Given the description of an element on the screen output the (x, y) to click on. 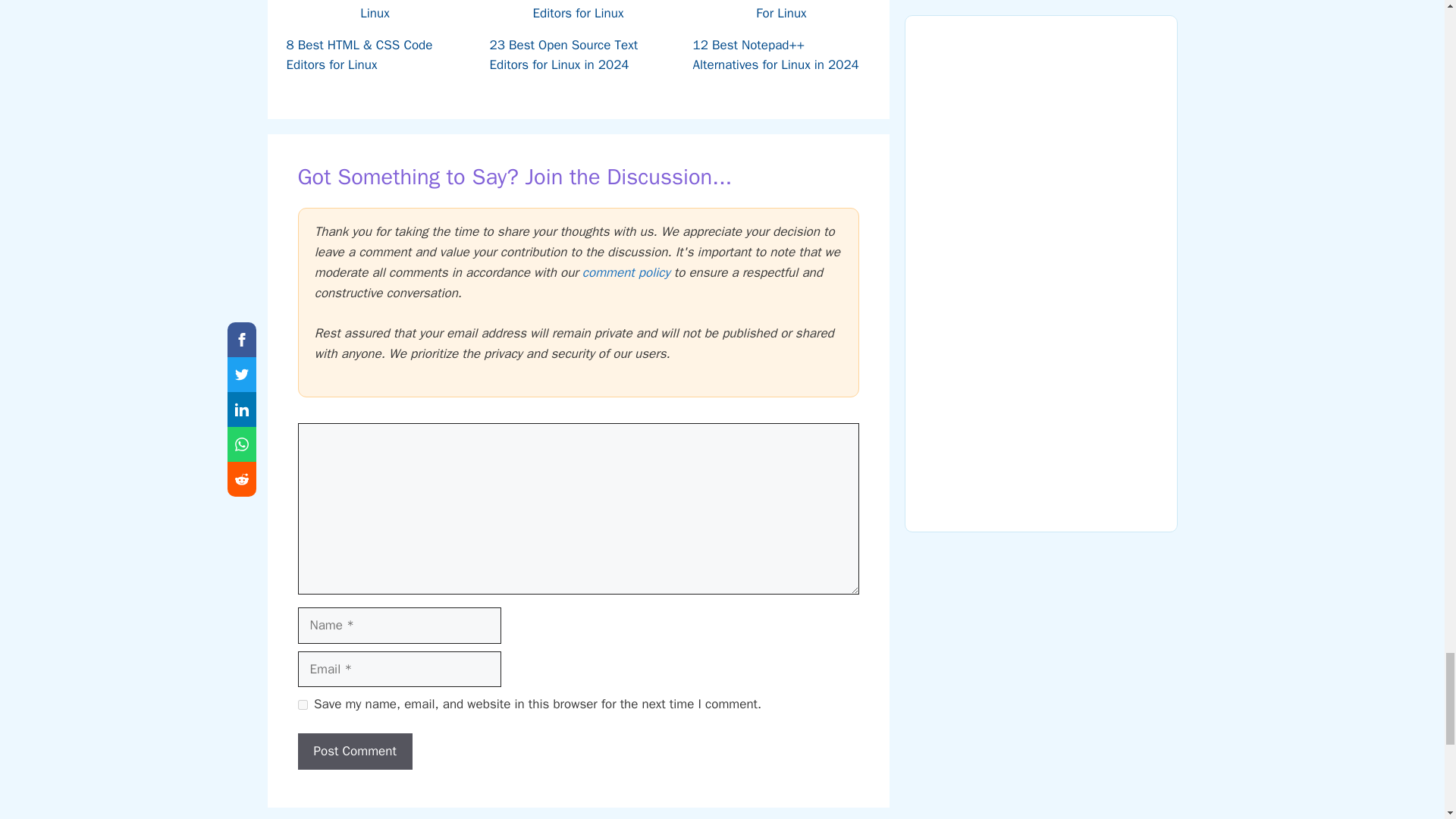
yes (302, 705)
Post Comment (354, 751)
